Given the description of an element on the screen output the (x, y) to click on. 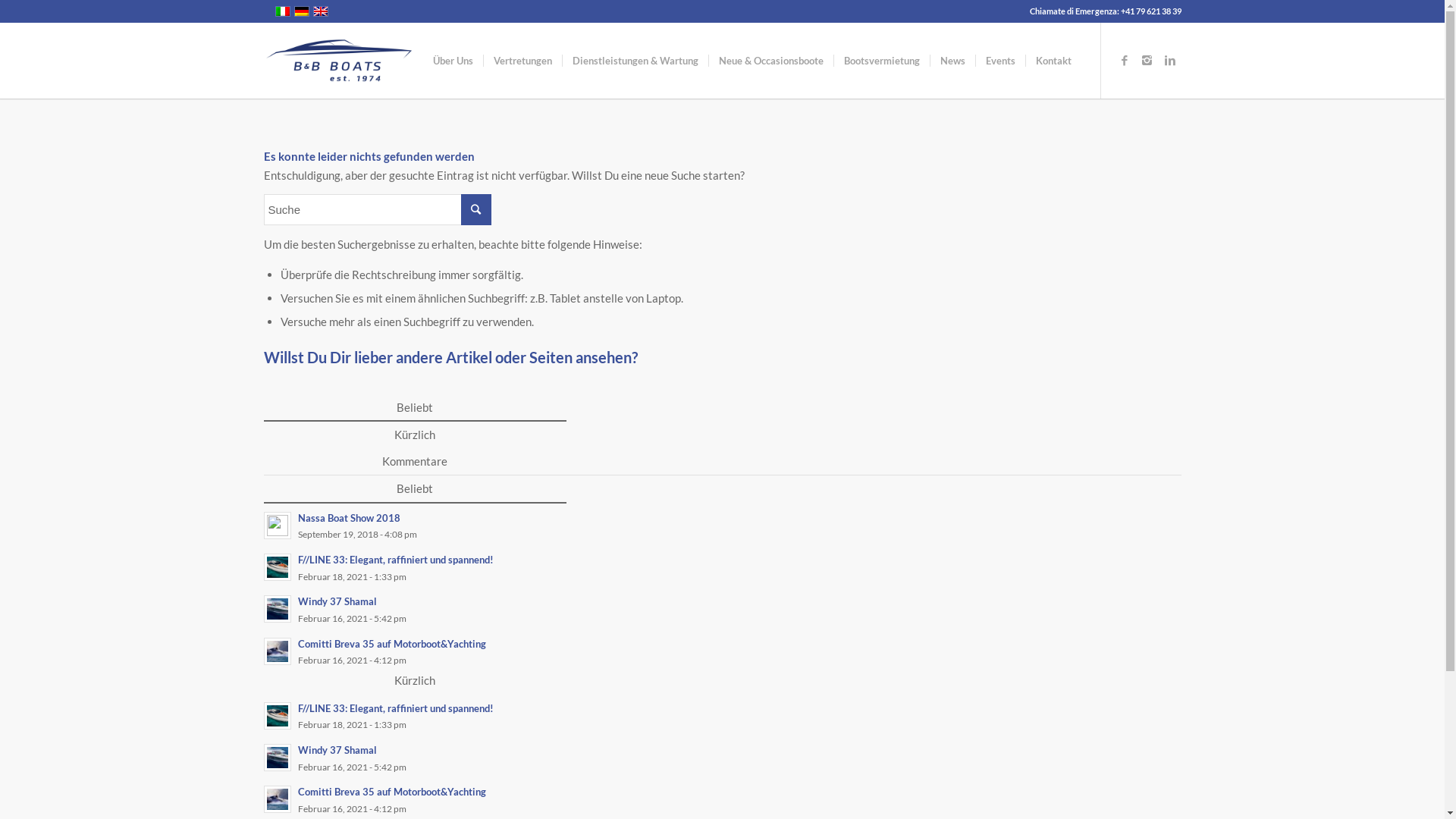
Instagram Element type: hover (1146, 59)
Facebook Element type: hover (1124, 59)
Neue & Occasionsboote Element type: text (770, 60)
News Element type: text (952, 60)
Dienstleistungen & Wartung Element type: text (634, 60)
English Element type: hover (319, 11)
Windy 37 Shamal
Februar 16, 2021 - 5:42 pm Element type: text (722, 757)
Events Element type: text (1000, 60)
Nassa Boat Show 2018
September 19, 2018 - 4:08 pm Element type: text (722, 525)
Kontakt Element type: text (1053, 60)
Windy 37 Shamal
Februar 16, 2021 - 5:42 pm Element type: text (722, 609)
Vertretungen Element type: text (521, 60)
Deutsch Element type: hover (301, 11)
Linkedin Element type: hover (1169, 59)
Bootsvermietung Element type: text (880, 60)
Italiano Element type: hover (281, 11)
